Given the description of an element on the screen output the (x, y) to click on. 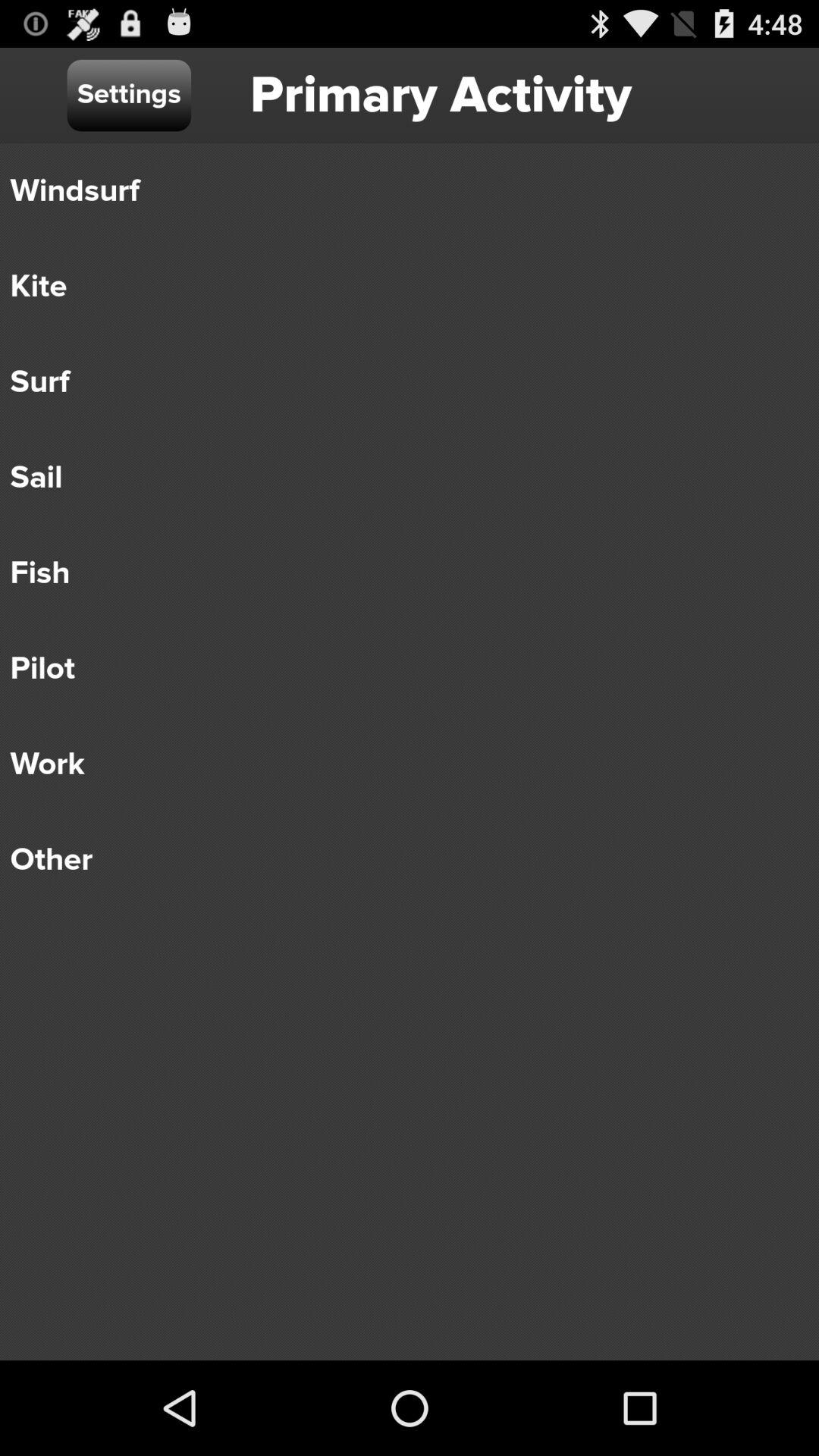
press the pilot item (399, 668)
